Given the description of an element on the screen output the (x, y) to click on. 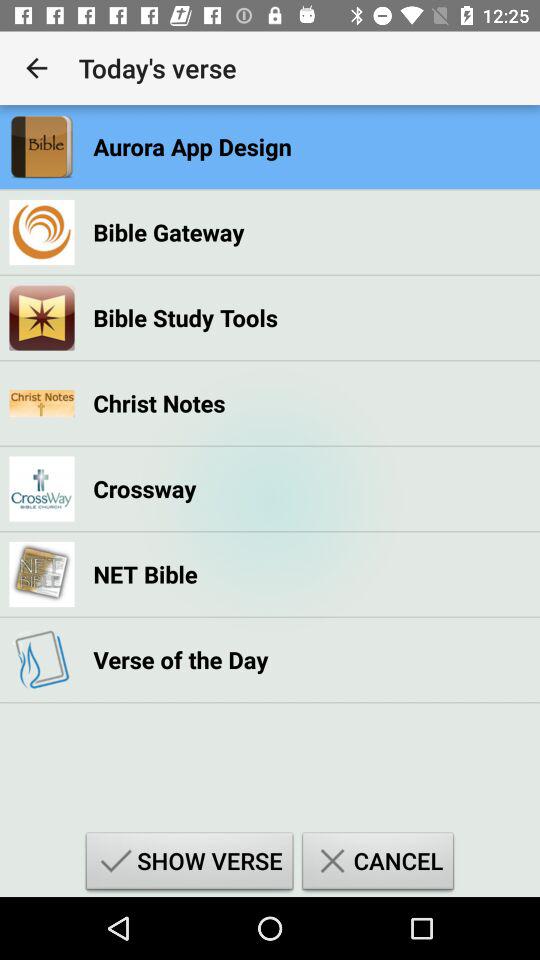
jump to the crossway item (144, 488)
